Given the description of an element on the screen output the (x, y) to click on. 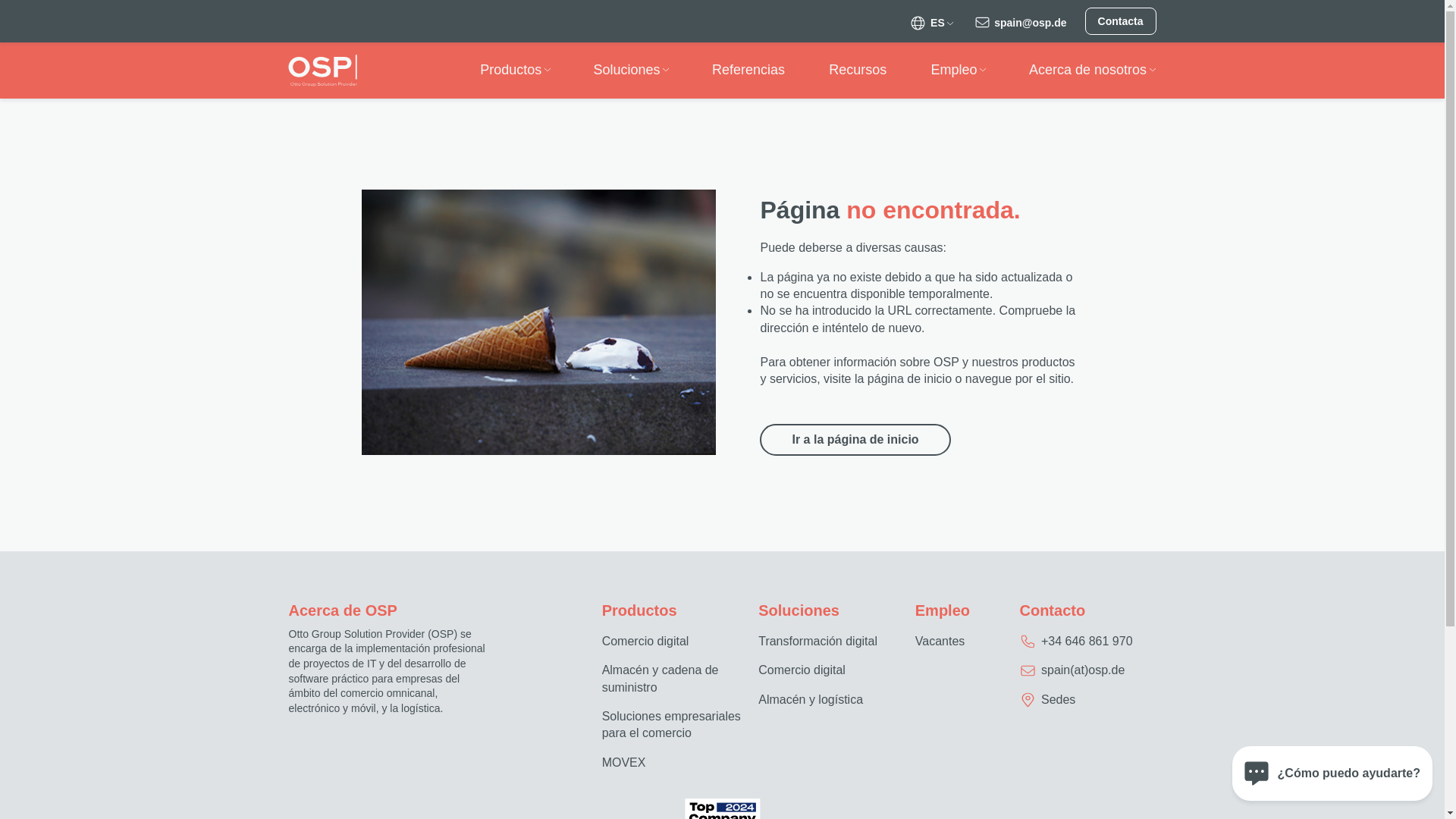
Home (322, 70)
Referencias (747, 69)
Productos (510, 69)
Contacta (1120, 21)
Recursos (857, 69)
Contacta (1120, 21)
